Given the description of an element on the screen output the (x, y) to click on. 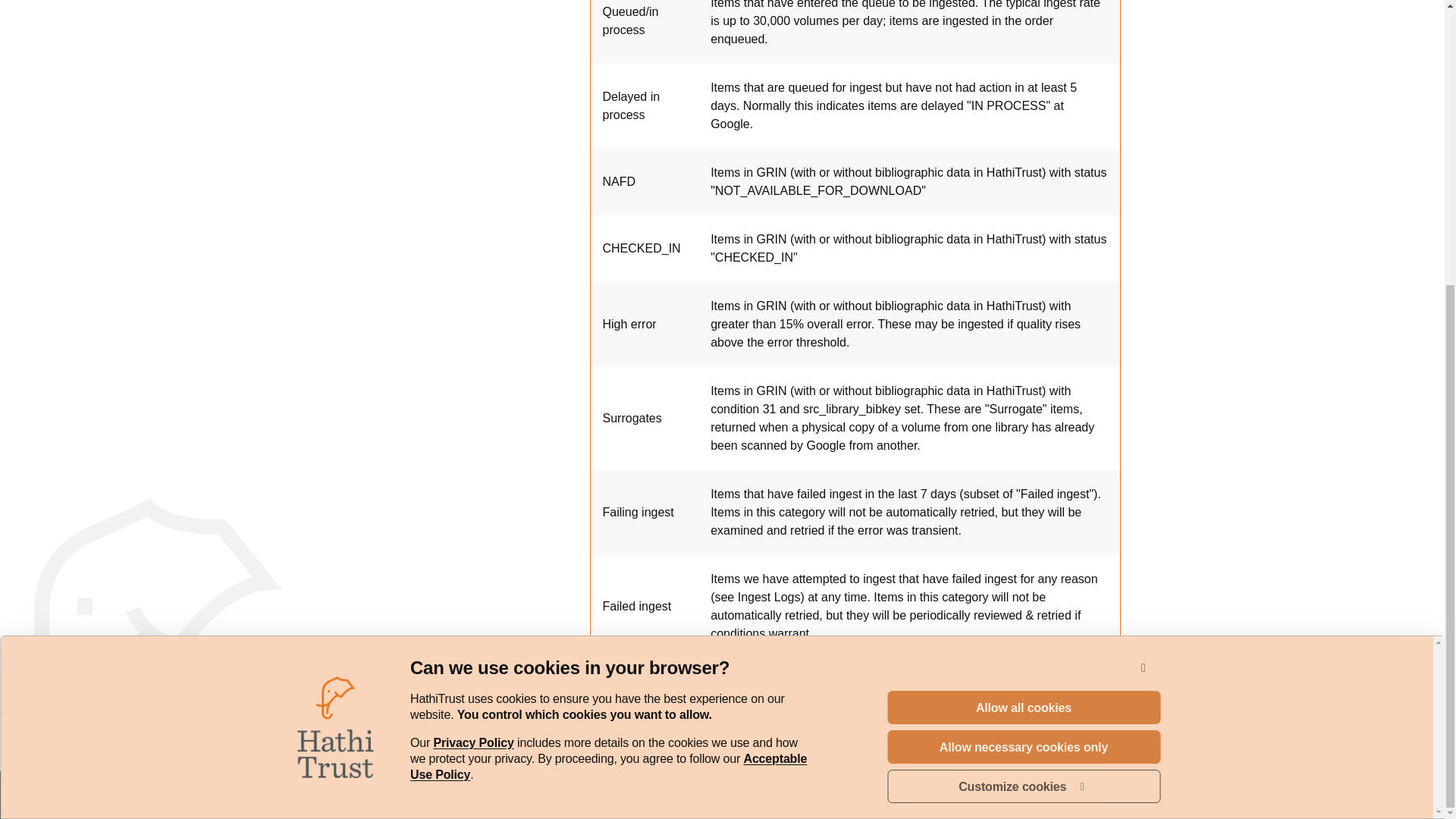
Privacy Policy (472, 313)
Allow necessary cookies only (1023, 317)
Acceptable Use Policy (1143, 238)
Allow all cookies (608, 337)
Customize cookies (1023, 277)
